Given the description of an element on the screen output the (x, y) to click on. 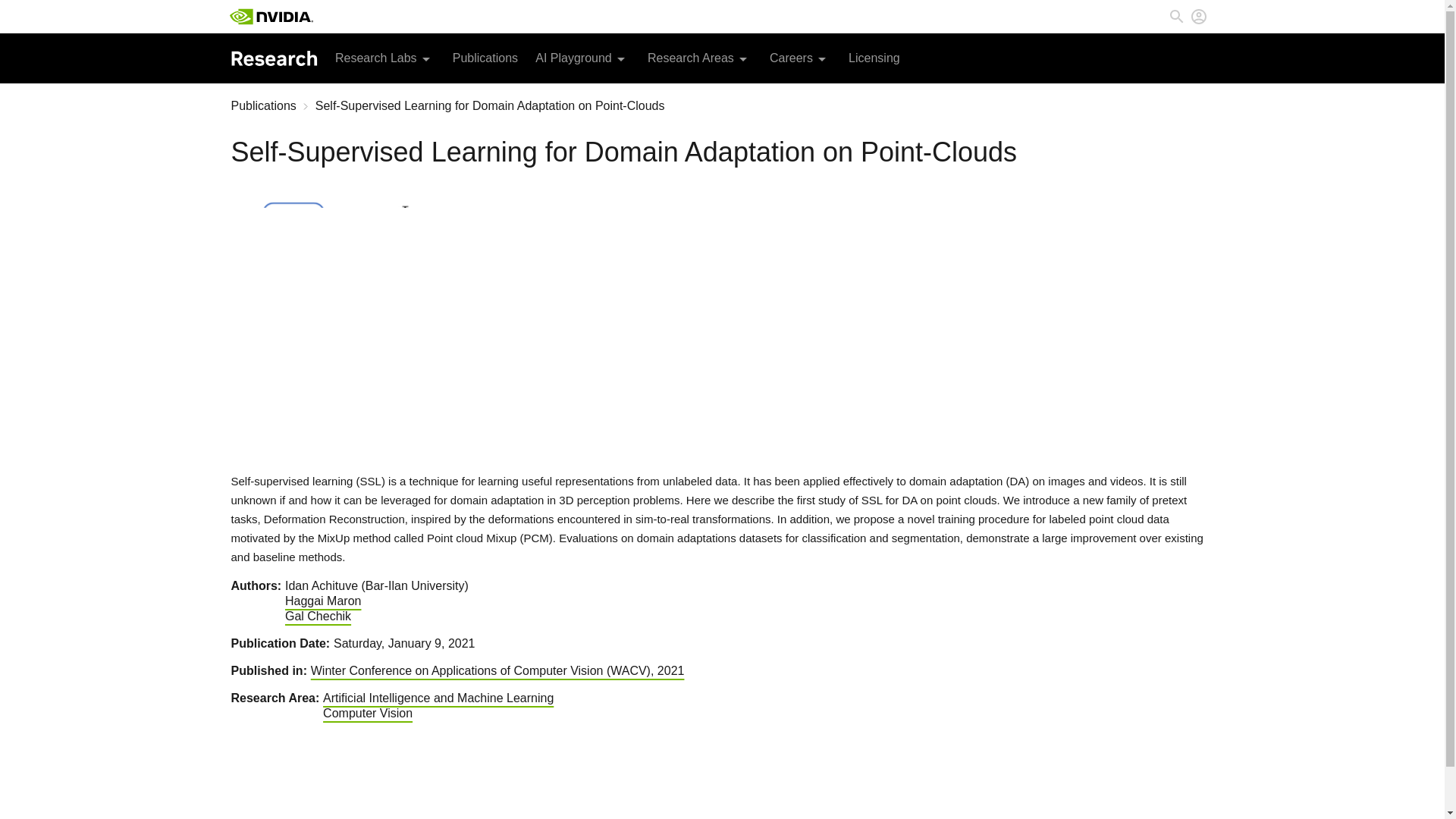
Artificial Intelligence Computing Leadership from NVIDIA (270, 16)
Login (1198, 16)
Login (1198, 16)
Publications (485, 58)
Artificial Intelligence Computing Leadership from NVIDIA (270, 16)
Research (273, 58)
Artificial Intelligence Computing Leadership from NVIDIA (270, 16)
